Given the description of an element on the screen output the (x, y) to click on. 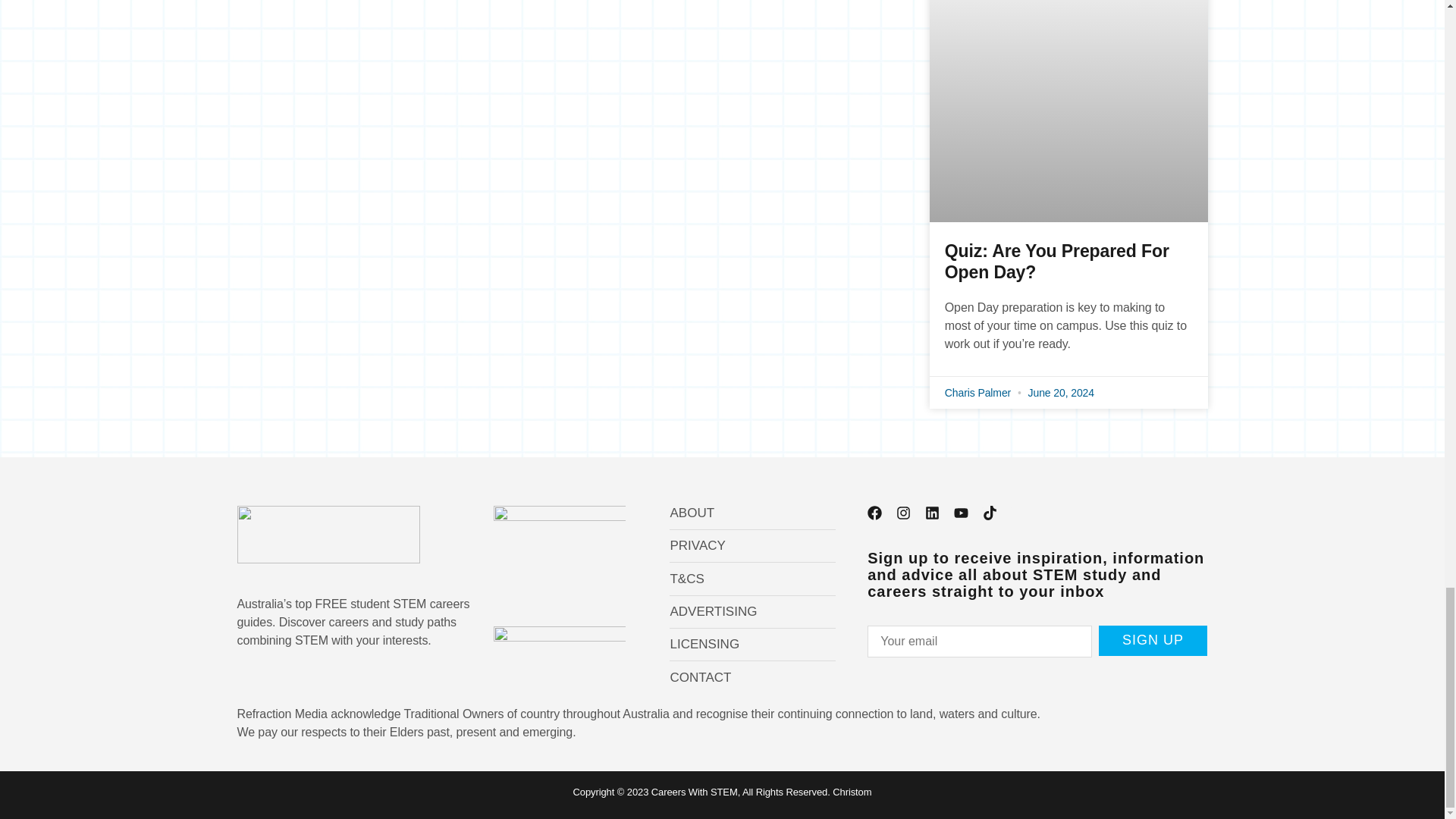
SIGN UP (1153, 640)
